Given the description of an element on the screen output the (x, y) to click on. 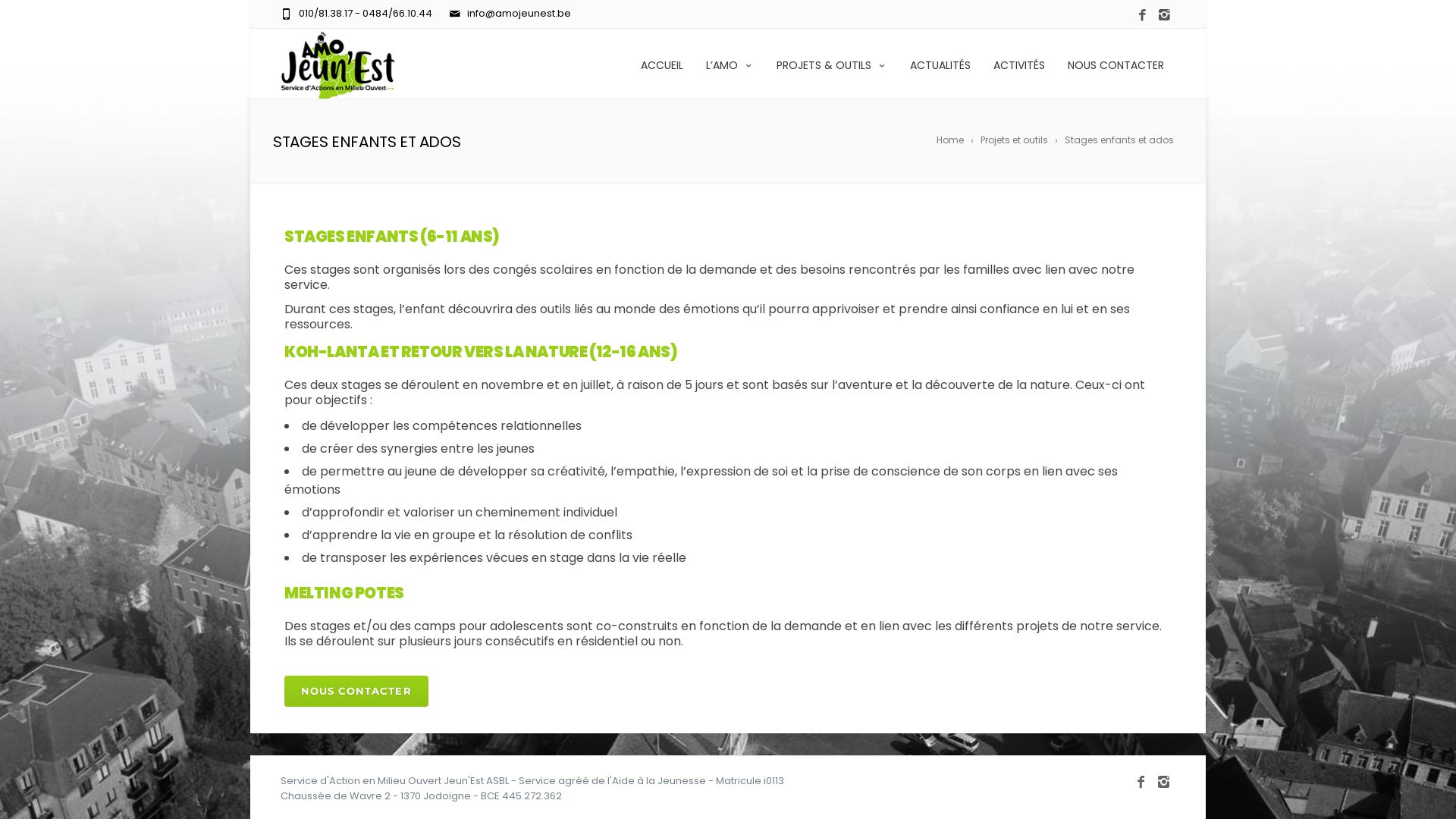
Projets et outils Element type: text (1020, 139)
ACCUEIL Element type: text (661, 63)
Facebook Element type: hover (1142, 15)
NOUS CONTACTER Element type: text (1115, 63)
Facebook Element type: hover (1141, 781)
PROJETS & OUTILS Element type: text (831, 63)
Instagram Element type: hover (1163, 781)
Instagram Element type: hover (1164, 15)
Home Element type: text (955, 139)
NOUS CONTACTER Element type: text (356, 690)
Stages enfants et ados Element type: text (1121, 139)
